Given the description of an element on the screen output the (x, y) to click on. 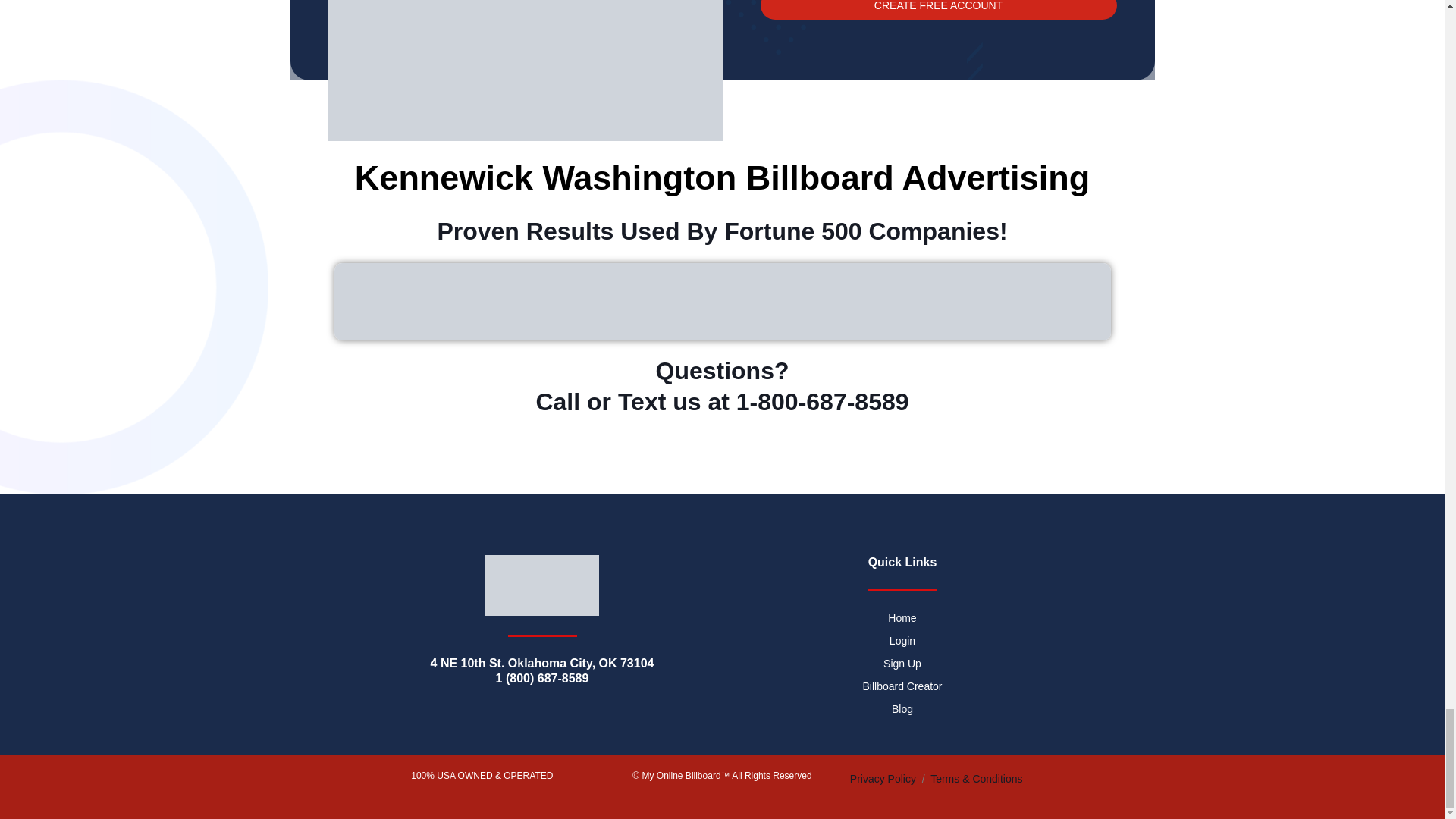
Login (901, 640)
Home (901, 617)
Privacy Policy (882, 778)
Blog (901, 708)
Kennewick Washington Billboard Advertising 5 (524, 70)
Sign Up (901, 663)
Kennewick Washington Billboard Advertising 6 (721, 301)
Billboard Creator (901, 685)
CREATE FREE ACCOUNT (938, 9)
